Given the description of an element on the screen output the (x, y) to click on. 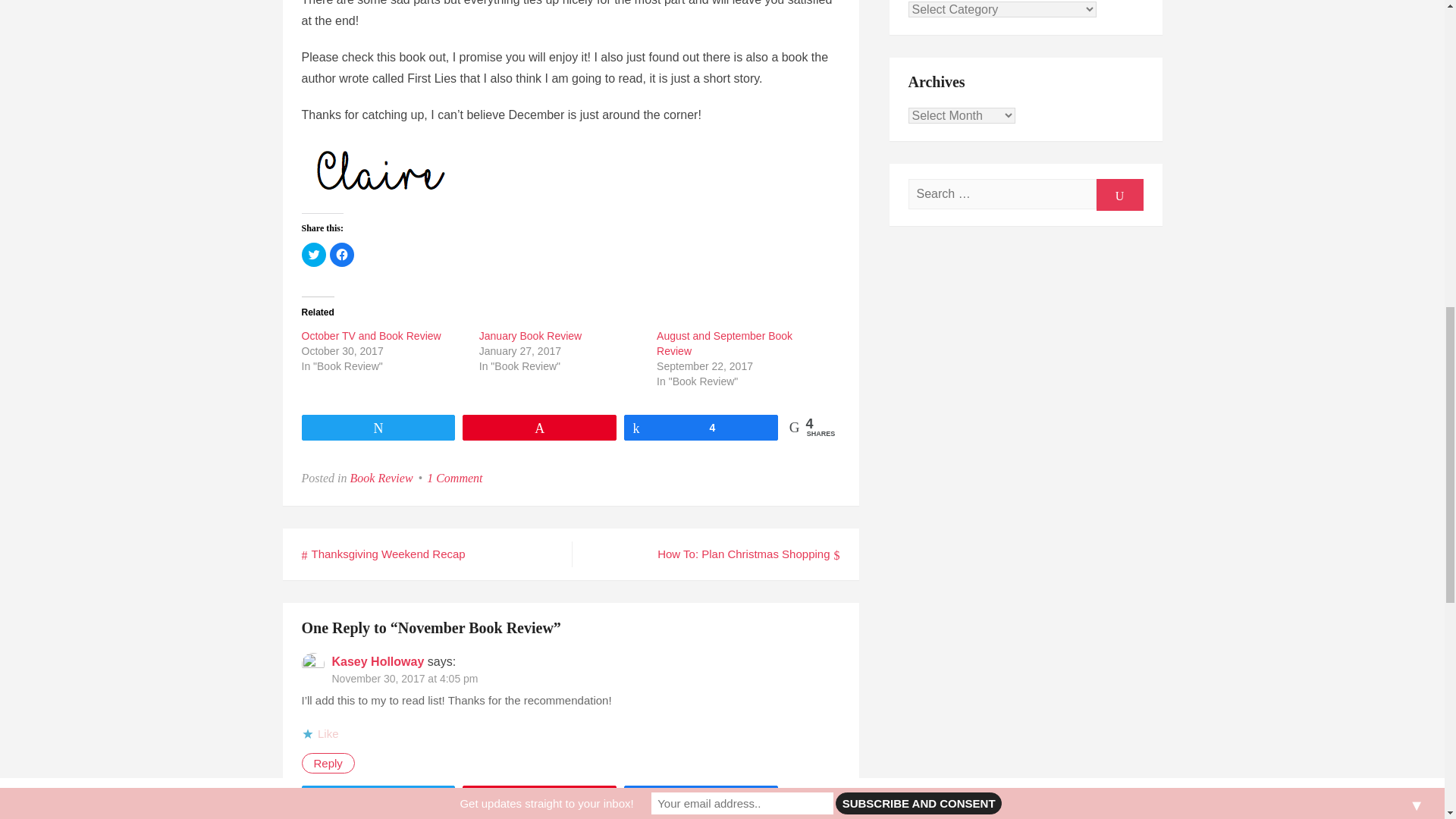
August and September Book Review (724, 343)
How To: Plan Christmas Shopping (749, 553)
Click to share on Facebook (341, 254)
Thanksgiving Weekend Recap (383, 553)
January Book Review (529, 336)
4 (453, 477)
Book Review (700, 426)
November 30, 2017 at 4:05 pm (381, 477)
October TV and Book Review (405, 678)
August and September Book Review (371, 336)
Click to share on Twitter (724, 343)
Kasey Holloway (313, 254)
October TV and Book Review (378, 661)
January Book Review (371, 336)
